Given the description of an element on the screen output the (x, y) to click on. 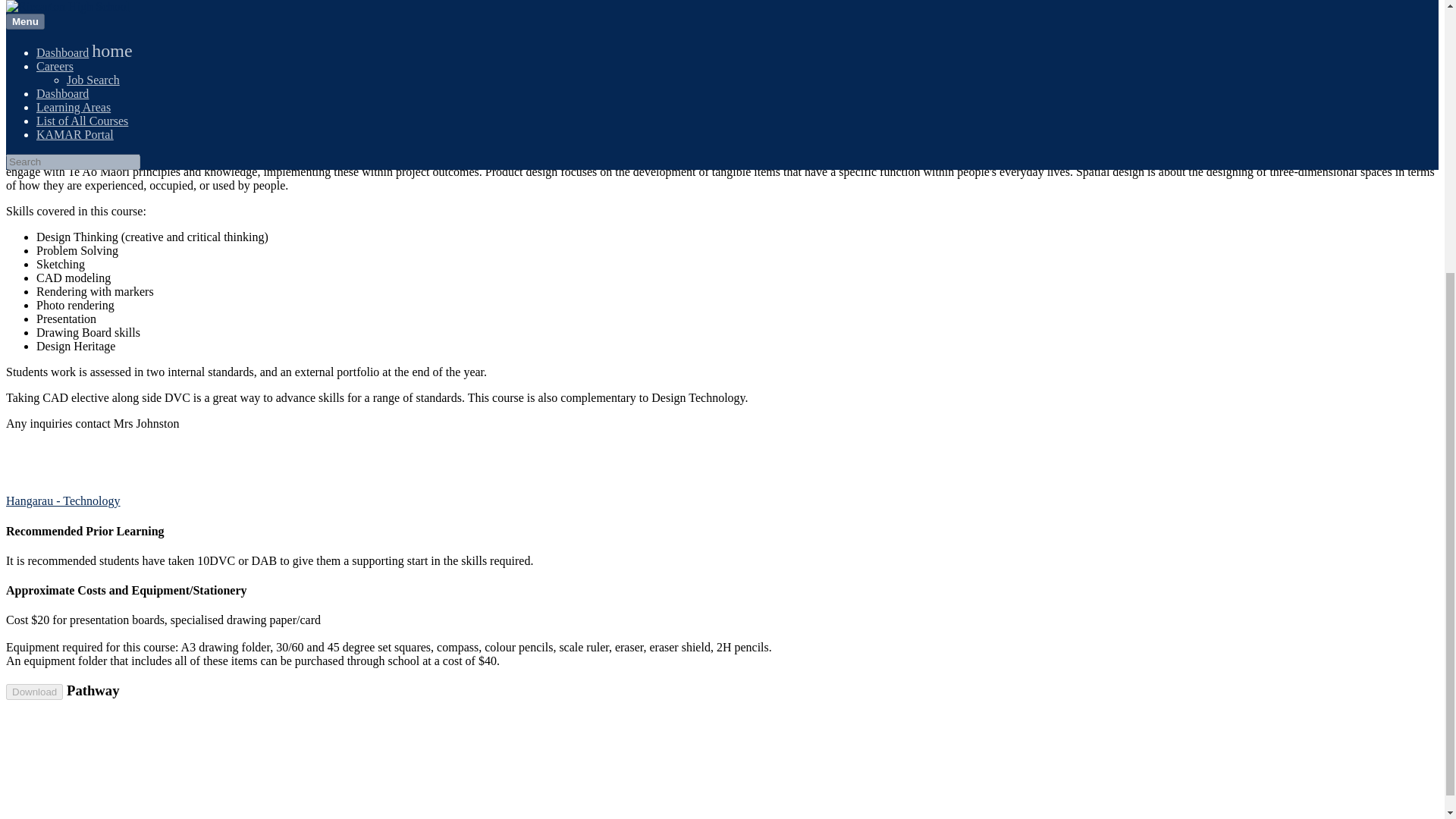
Mrs J. Johnston (147, 132)
Download (33, 691)
Login to Select this Subject (72, 72)
Hangarau - Technology (62, 500)
